Given the description of an element on the screen output the (x, y) to click on. 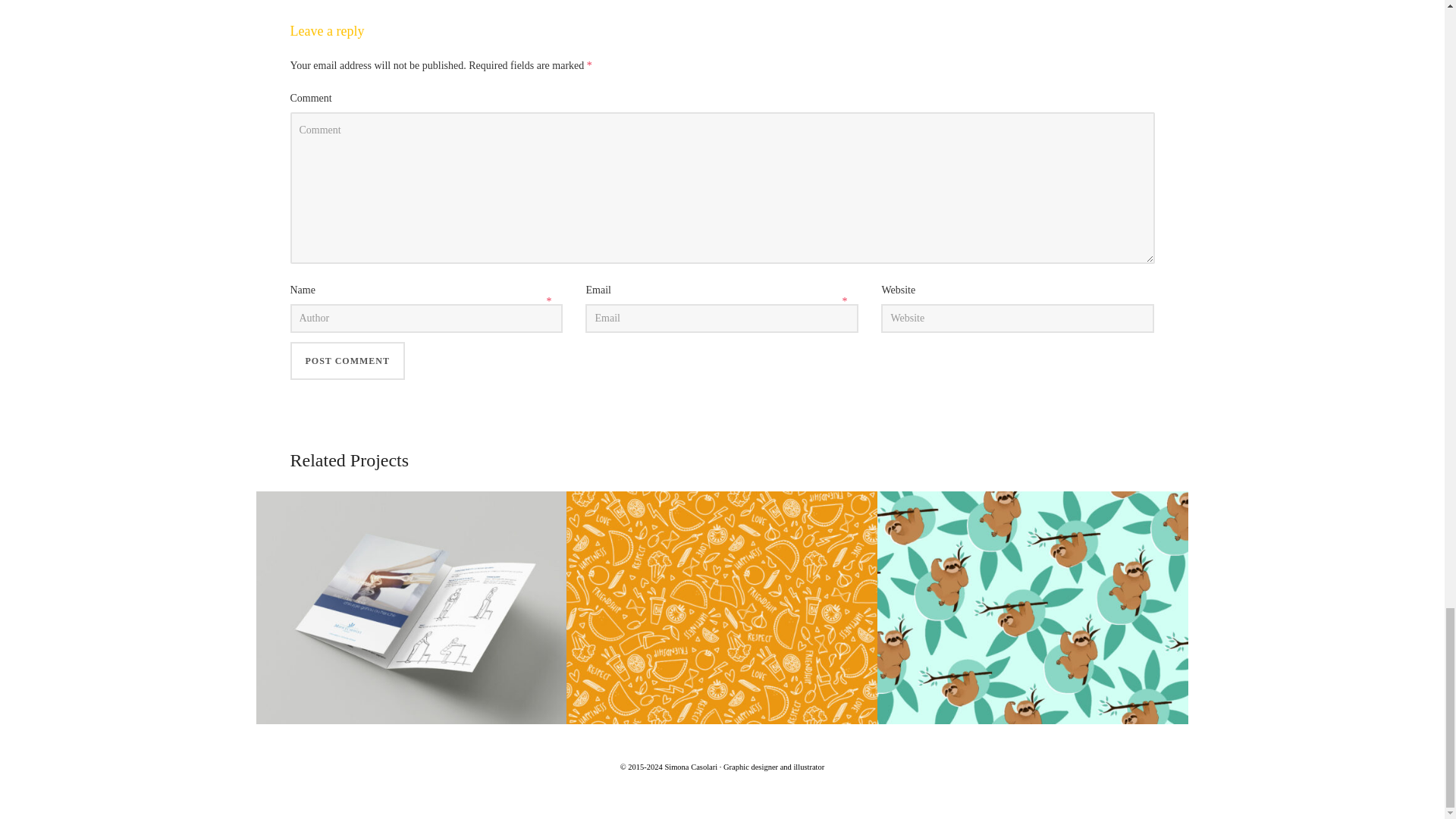
Post comment (346, 361)
Post comment (346, 361)
